Given the description of an element on the screen output the (x, y) to click on. 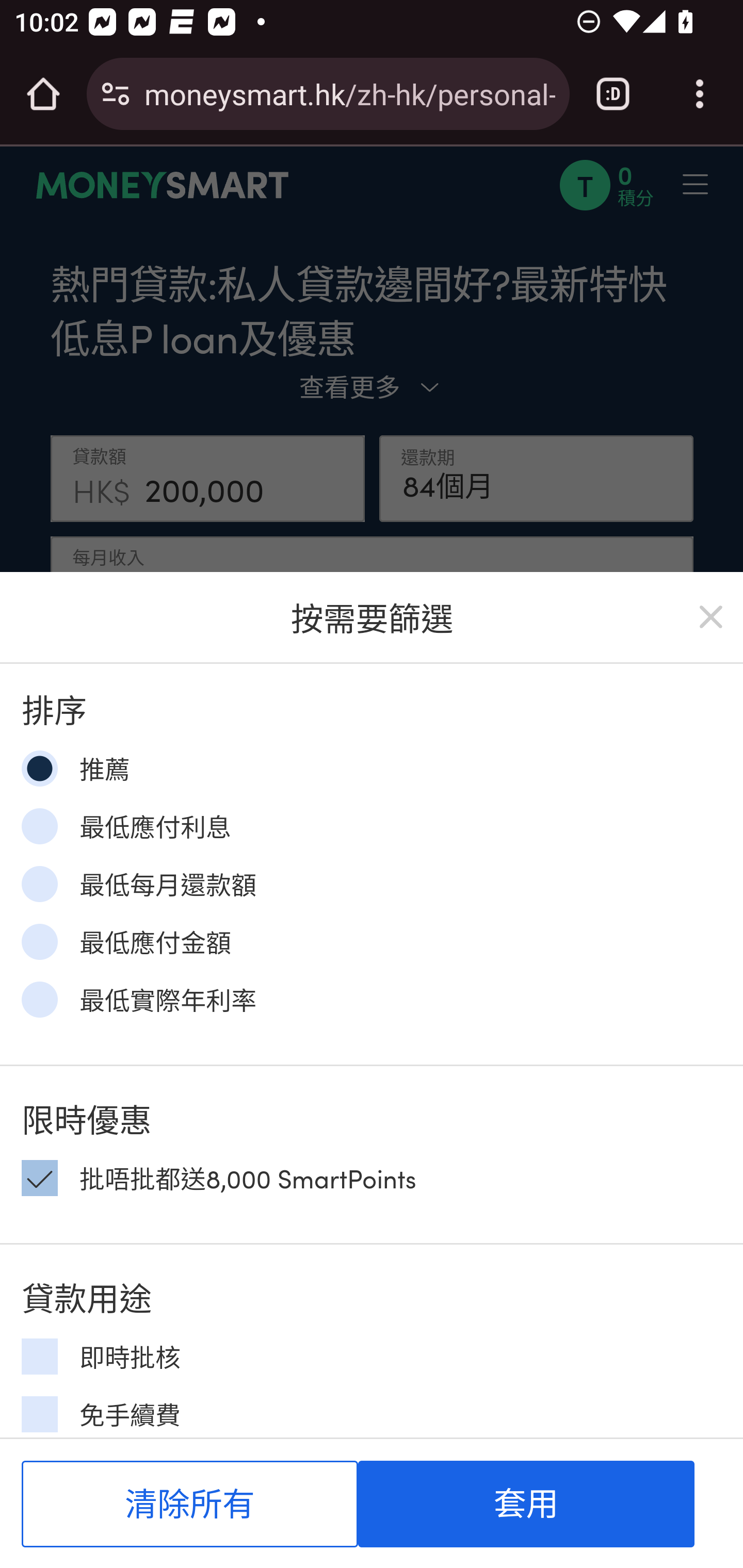
Open the home page (43, 93)
Connection is secure (115, 93)
Switch or close tabs (612, 93)
Customize and control Google Chrome (699, 93)
推薦 (39, 768)
最低應付利息 (39, 825)
最低每月還款額 (39, 883)
最低應付金額 (39, 940)
最低實際年利率 (39, 998)
批唔批都送8,000 SmartPoints (39, 1177)
清除所有 (189, 1504)
套用 (525, 1504)
